Given the description of an element on the screen output the (x, y) to click on. 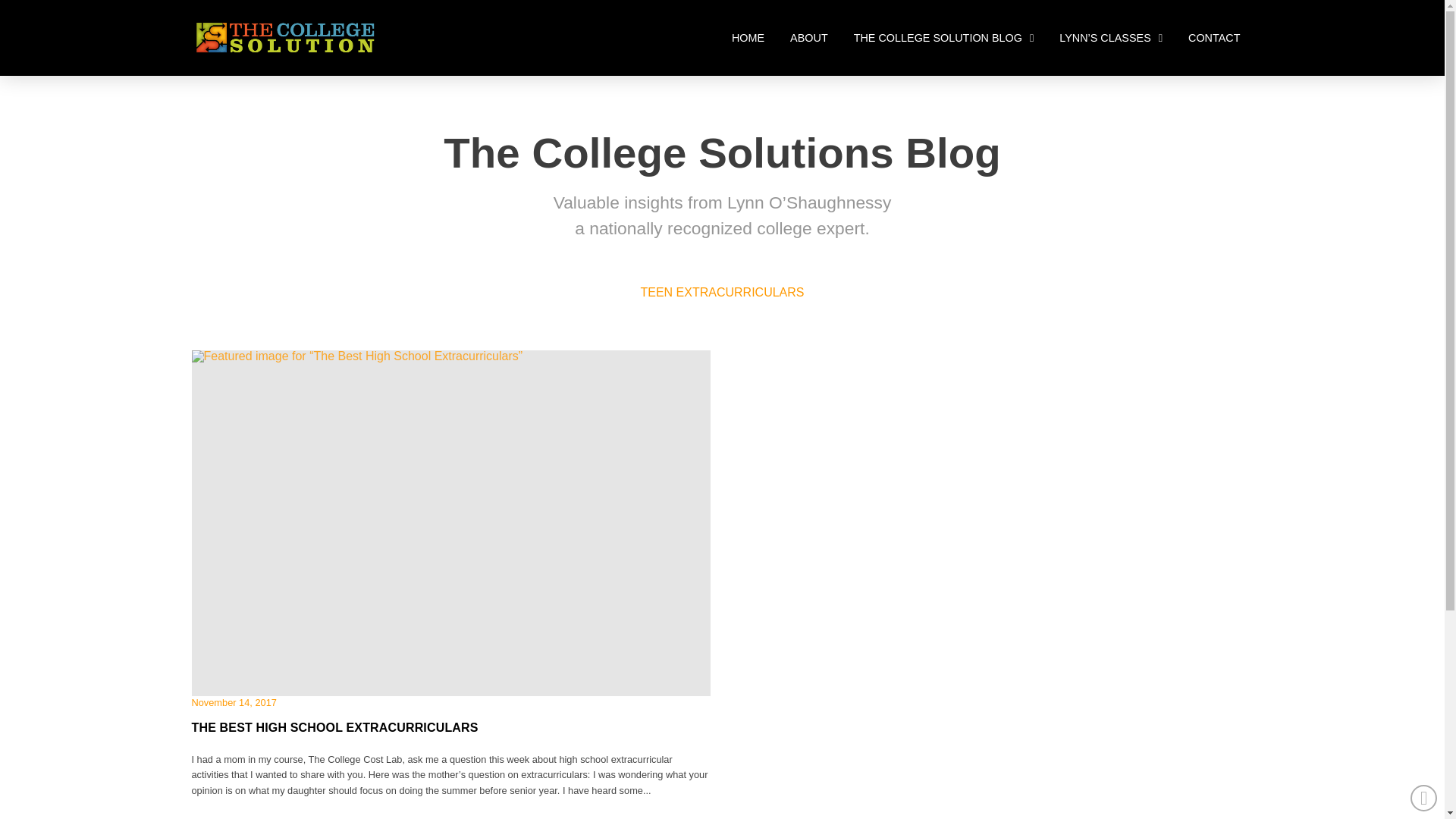
THE COLLEGE SOLUTION BLOG (943, 37)
CONTACT (1213, 37)
Back to Top (1423, 797)
HOME (748, 37)
ABOUT (809, 37)
